Given the description of an element on the screen output the (x, y) to click on. 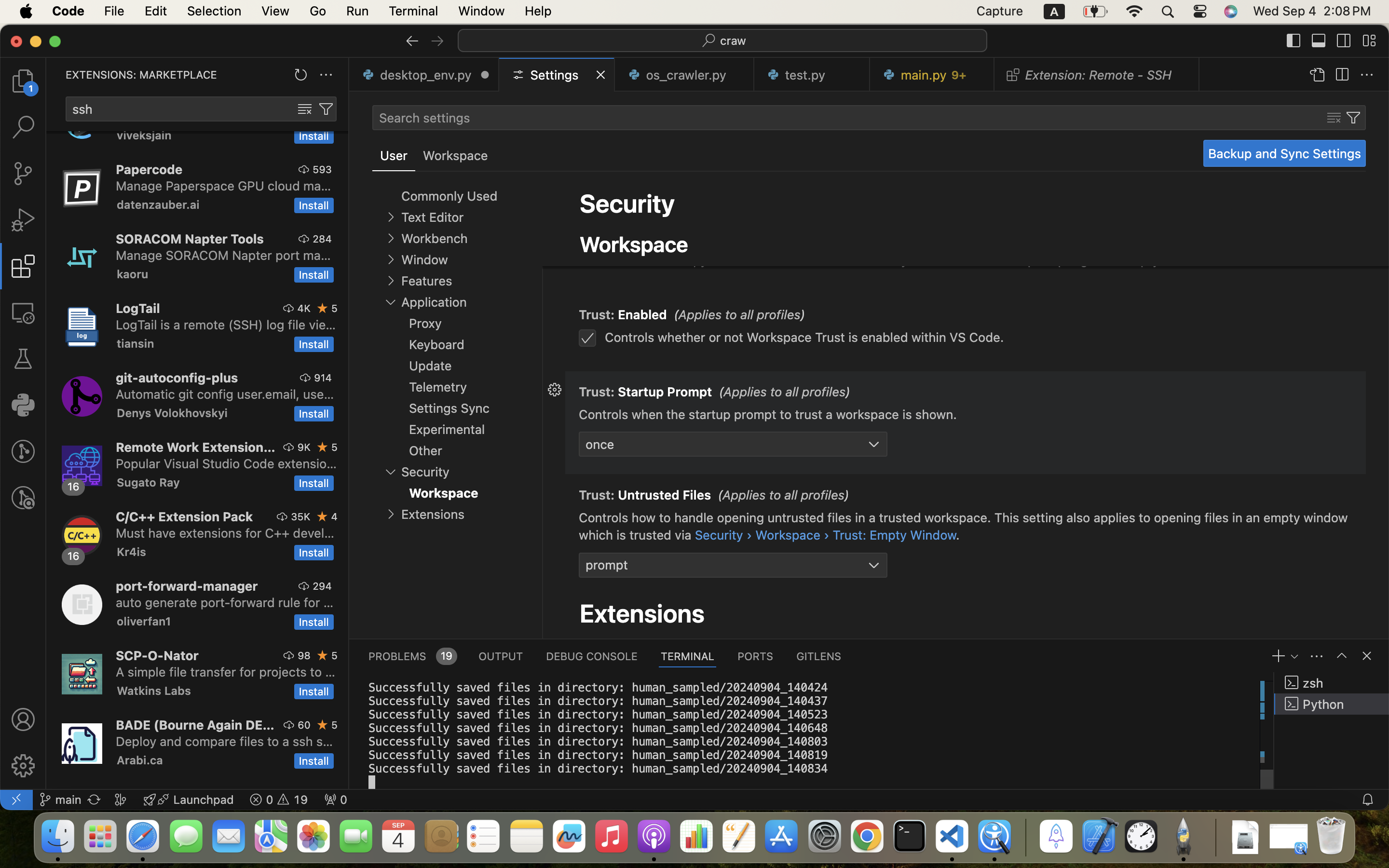
0 Element type: AXRadioButton (454, 155)
0 GITLENS Element type: AXRadioButton (819, 655)
Workbench Element type: AXStaticText (434, 238)
0  Element type: AXRadioButton (23, 80)
284 Element type: AXStaticText (321, 238)
